Given the description of an element on the screen output the (x, y) to click on. 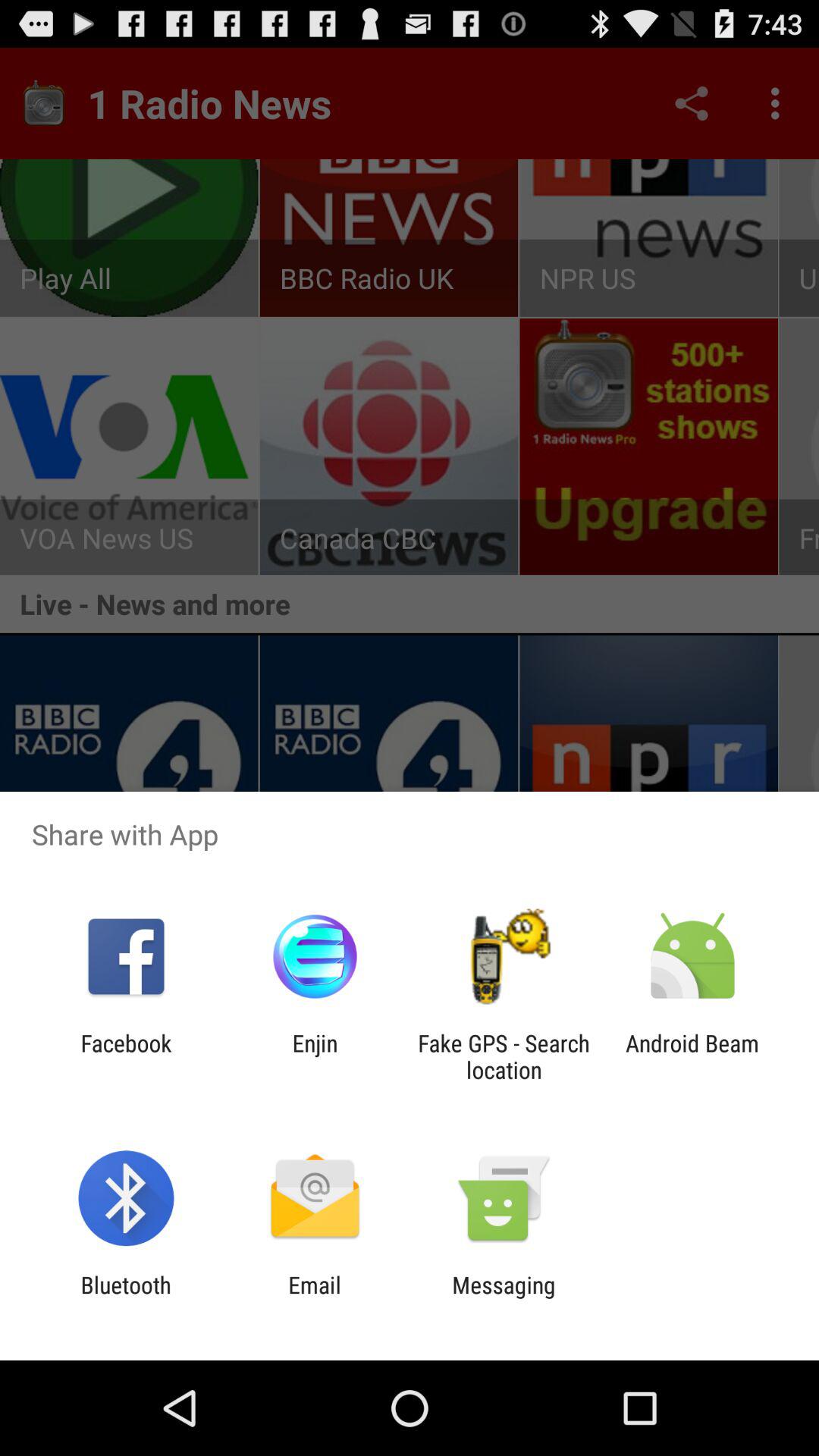
turn on icon next to messaging item (314, 1298)
